Given the description of an element on the screen output the (x, y) to click on. 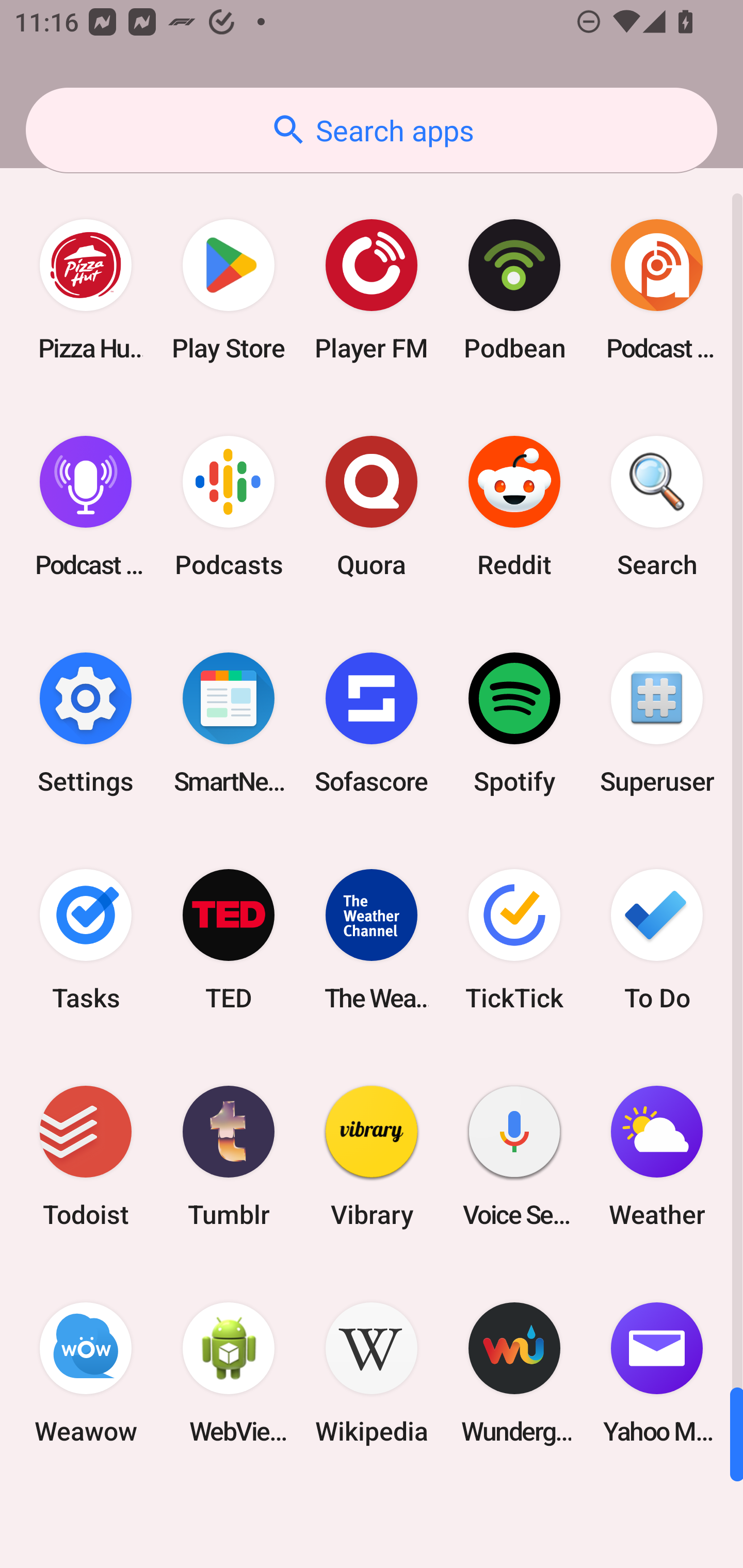
  Search apps (371, 130)
Pizza Hut HK & Macau (85, 289)
Play Store (228, 289)
Player FM (371, 289)
Podbean (514, 289)
Podcast Addict (656, 289)
Podcast Player (85, 506)
Podcasts (228, 506)
Quora (371, 506)
Reddit (514, 506)
Search (656, 506)
Settings (85, 722)
SmartNews (228, 722)
Sofascore (371, 722)
Spotify (514, 722)
Superuser (656, 722)
Tasks (85, 939)
TED (228, 939)
The Weather Channel (371, 939)
TickTick (514, 939)
To Do (656, 939)
Todoist (85, 1156)
Tumblr (228, 1156)
Vibrary (371, 1156)
Voice Search (514, 1156)
Weather (656, 1156)
Weawow (85, 1373)
WebView Browser Tester (228, 1373)
Wikipedia (371, 1373)
Wunderground (514, 1373)
Yahoo Mail (656, 1373)
